Given the description of an element on the screen output the (x, y) to click on. 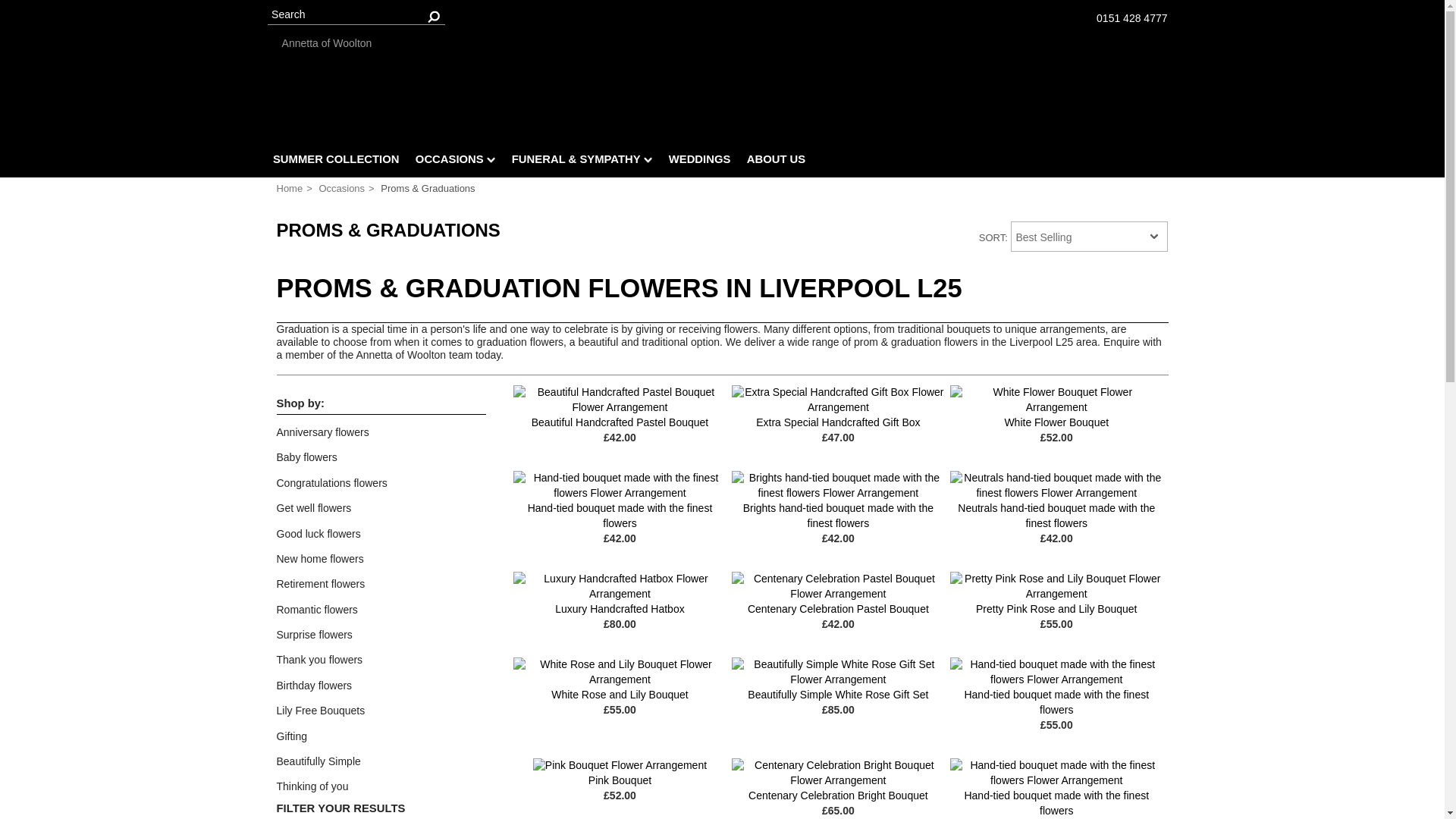
Sort By (1088, 236)
0151 428 4777 (1131, 18)
Annetta of Woolton (722, 43)
SUMMER COLLECTION (335, 161)
OCCASIONS (454, 161)
Search (355, 14)
Go (434, 15)
